Given the description of an element on the screen output the (x, y) to click on. 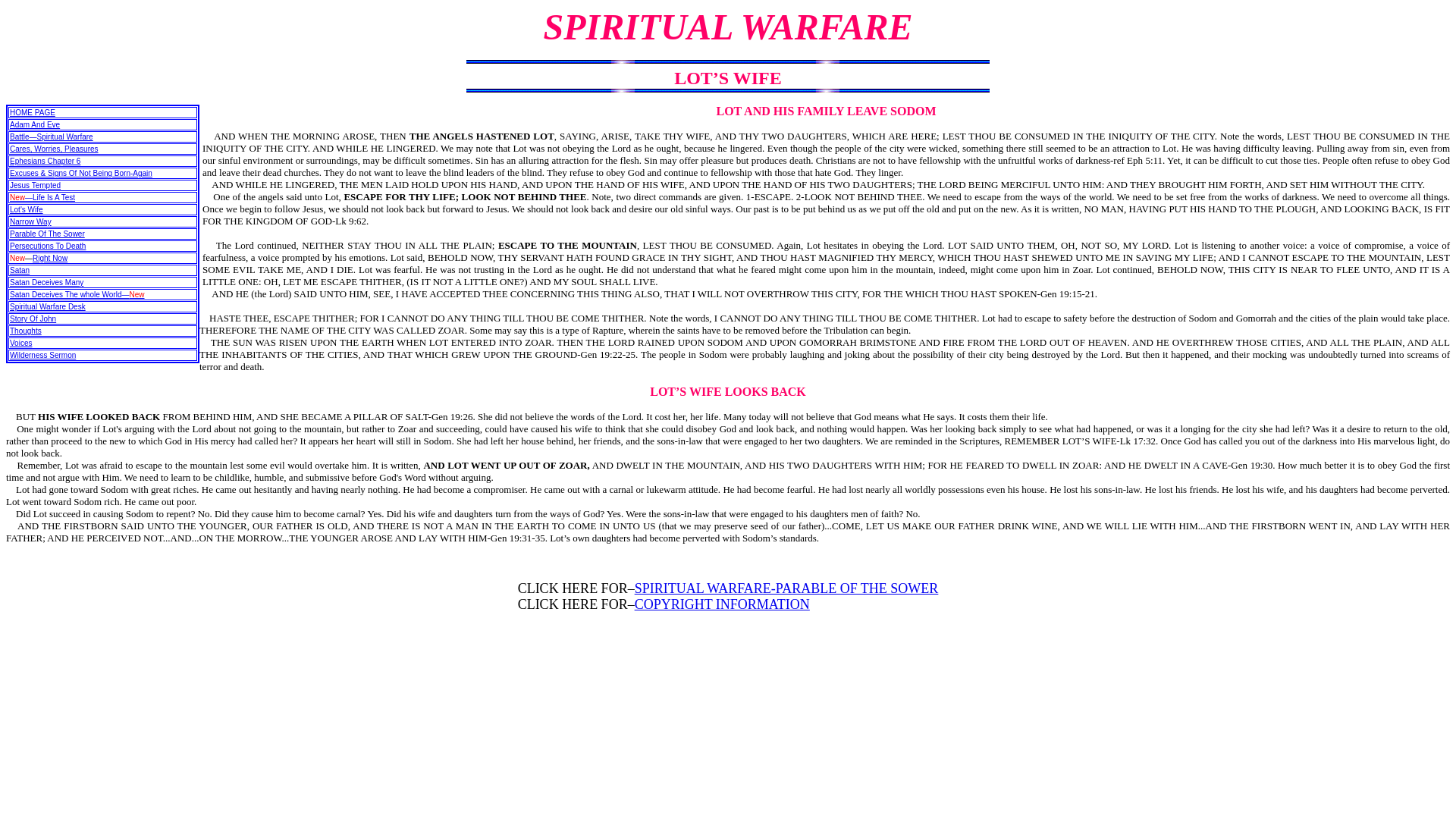
Narrow Way (30, 221)
SPIRITUAL WARFARE-PARABLE OF THE SOWER (786, 588)
COPYRIGHT INFORMATION (721, 604)
Parable Of The Sower (47, 234)
Lot's Wife (26, 209)
Thoughts (26, 330)
Spiritual Warfare Desk (47, 306)
SPIRITUAL WARFARE (727, 26)
HOME PAGE (32, 112)
Jesus Tempted (35, 184)
